Given the description of an element on the screen output the (x, y) to click on. 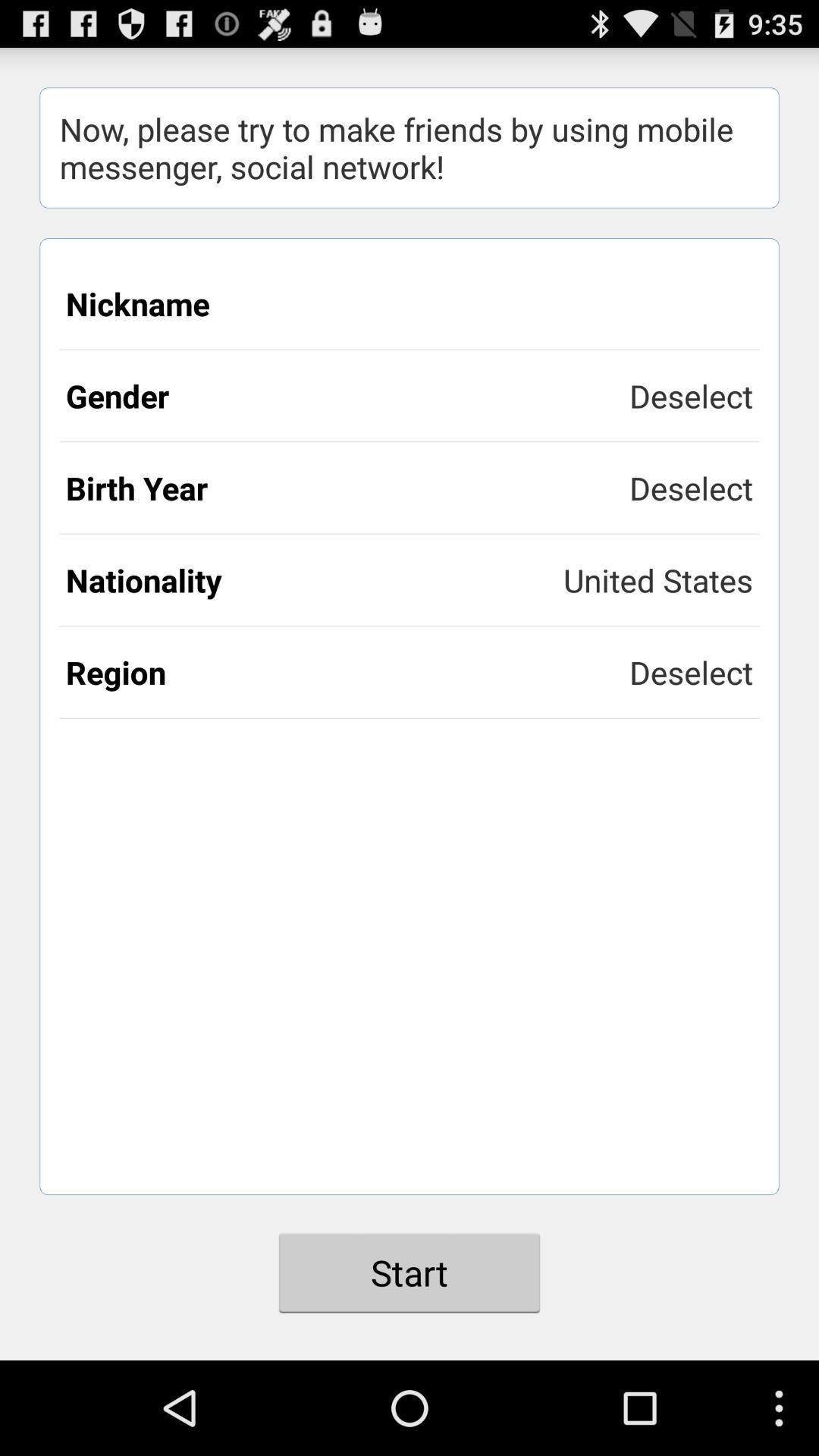
launch the nickname icon (409, 303)
